Given the description of an element on the screen output the (x, y) to click on. 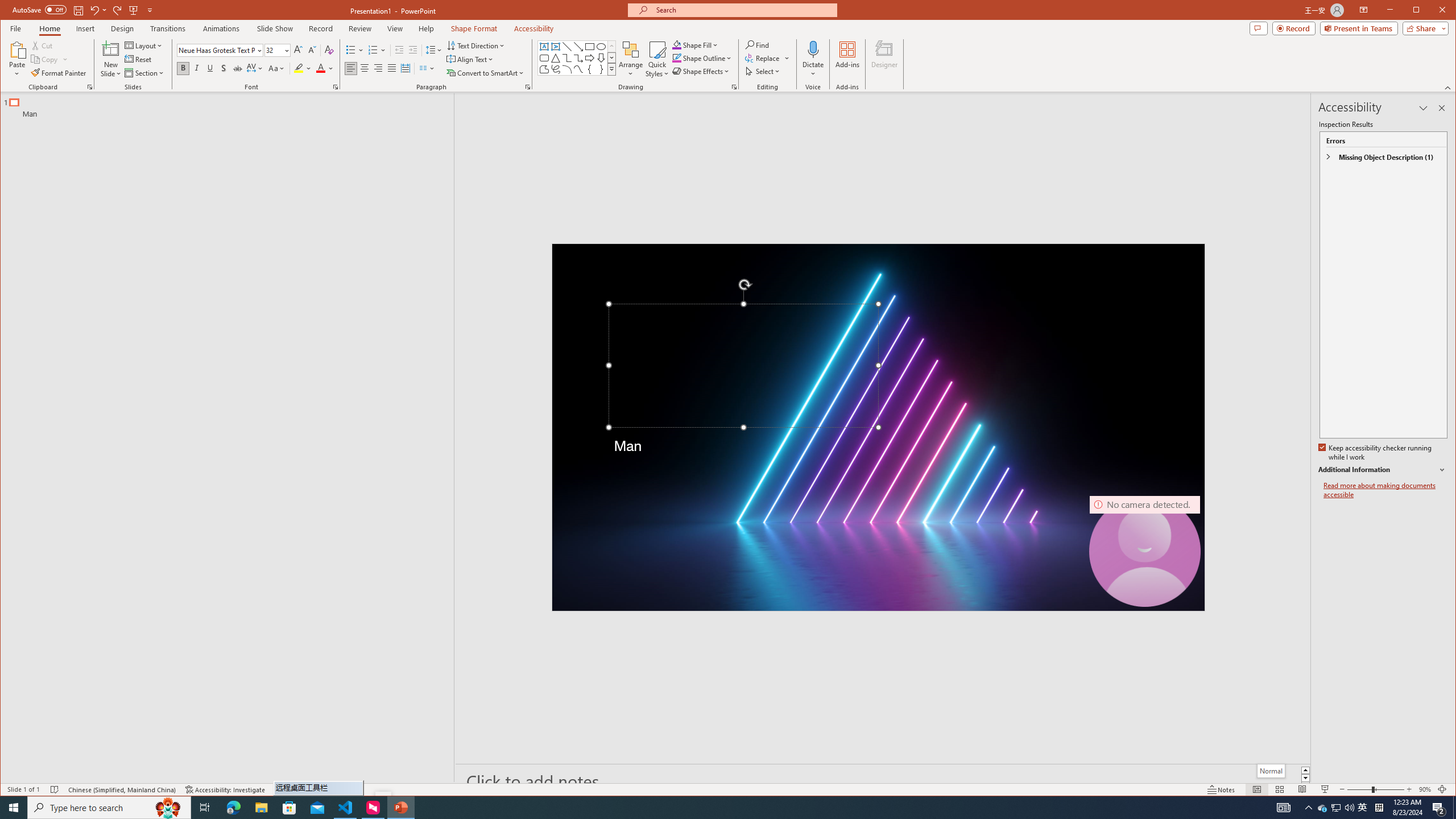
Rectangle (221, 436)
Arrow: Right (589, 57)
Section (144, 72)
Shapes (611, 69)
Task View (204, 807)
Line Arrow (577, 46)
